Given the description of an element on the screen output the (x, y) to click on. 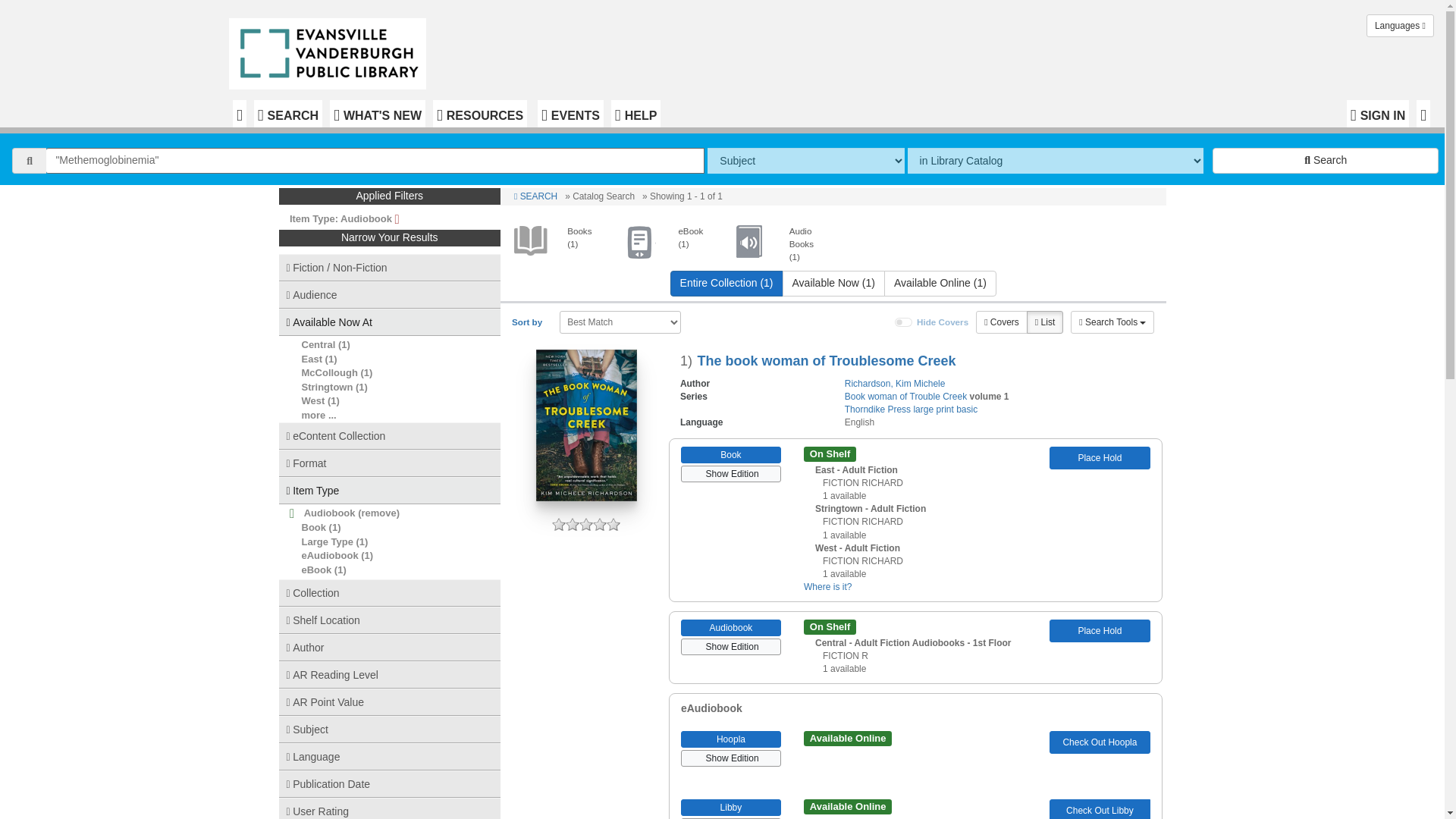
Show Menu (1422, 113)
SIGN IN (1377, 113)
 Search (1325, 160)
Languages  (1400, 25)
Stringtown (327, 387)
Login (1377, 113)
HELP (636, 113)
The method of searching. (805, 160)
EVENTS (570, 113)
McCollough (329, 372)
Library Home Page (330, 49)
more ... (318, 414)
Browse the Catalog (239, 113)
on (903, 321)
